Given the description of an element on the screen output the (x, y) to click on. 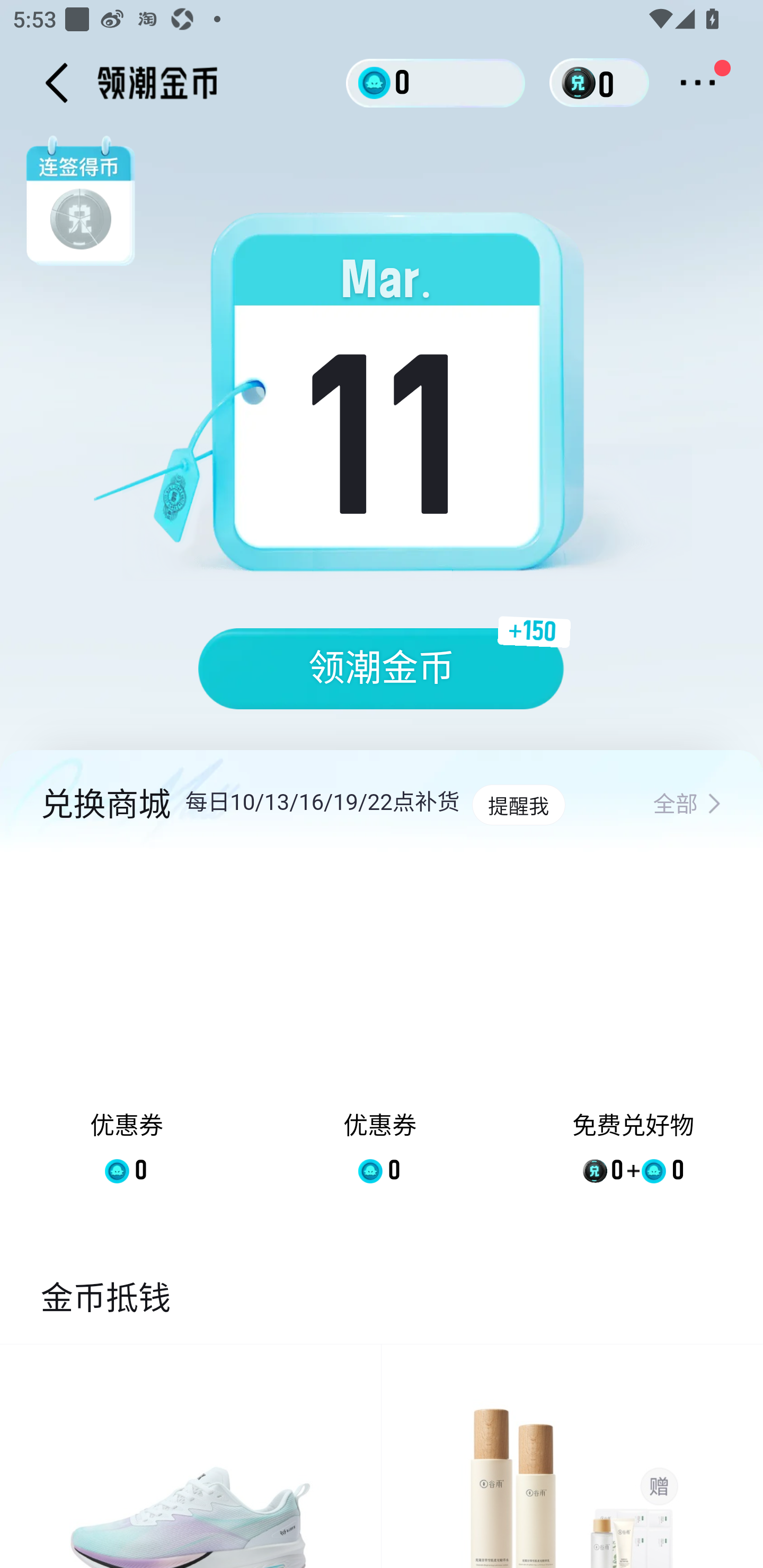
0 (435, 82)
format,webp 0 (581, 83)
领潮金币 + 150 (381, 668)
提醒我 (518, 805)
全部 (687, 804)
优惠券 0 (127, 1031)
优惠券 0 (379, 1031)
免费兑好物 0 0 (633, 1031)
